Given the description of an element on the screen output the (x, y) to click on. 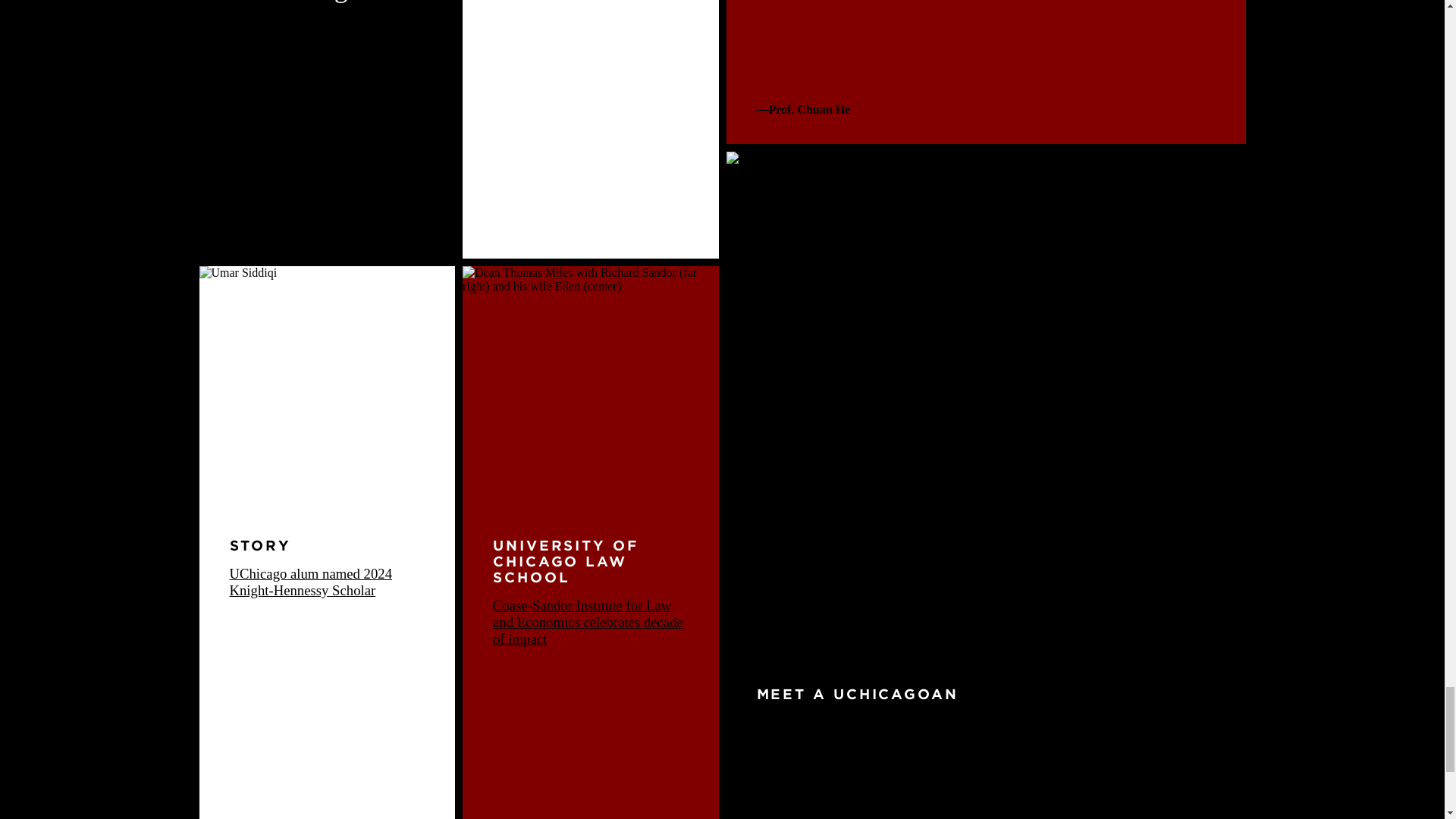
UChicago alum named 2024 Knight-Hennessy Scholar (309, 581)
Eight books to add to your summer 2024 reading list (326, 1)
Organist pulls out all the stops to bring Bach to UChicago (970, 766)
